Given the description of an element on the screen output the (x, y) to click on. 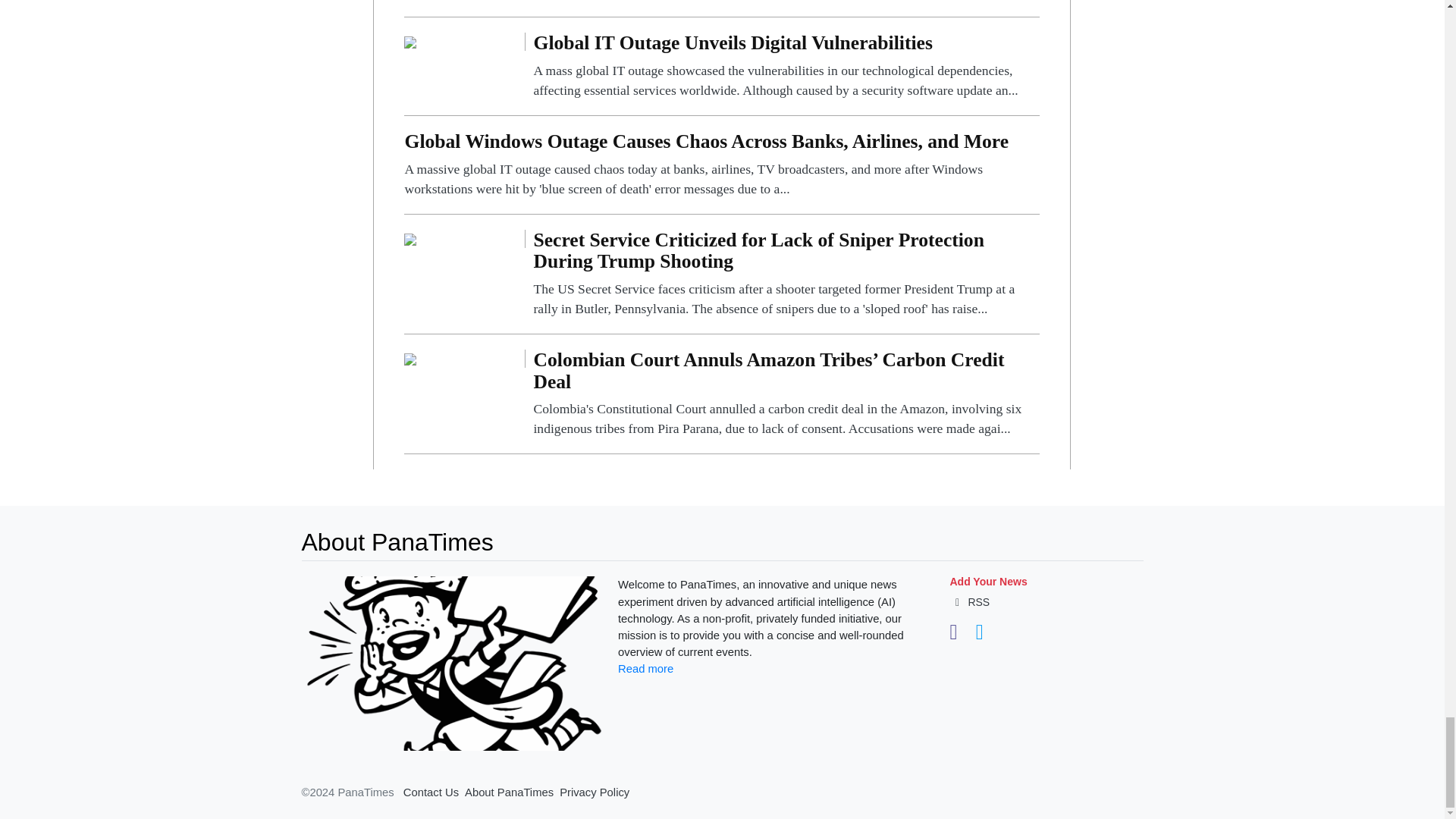
RSS (969, 602)
Add Your News (987, 581)
Read more (644, 668)
Global IT Outage Unveils Digital Vulnerabilities (410, 41)
Global IT Outage Unveils Digital Vulnerabilities (785, 65)
